Given the description of an element on the screen output the (x, y) to click on. 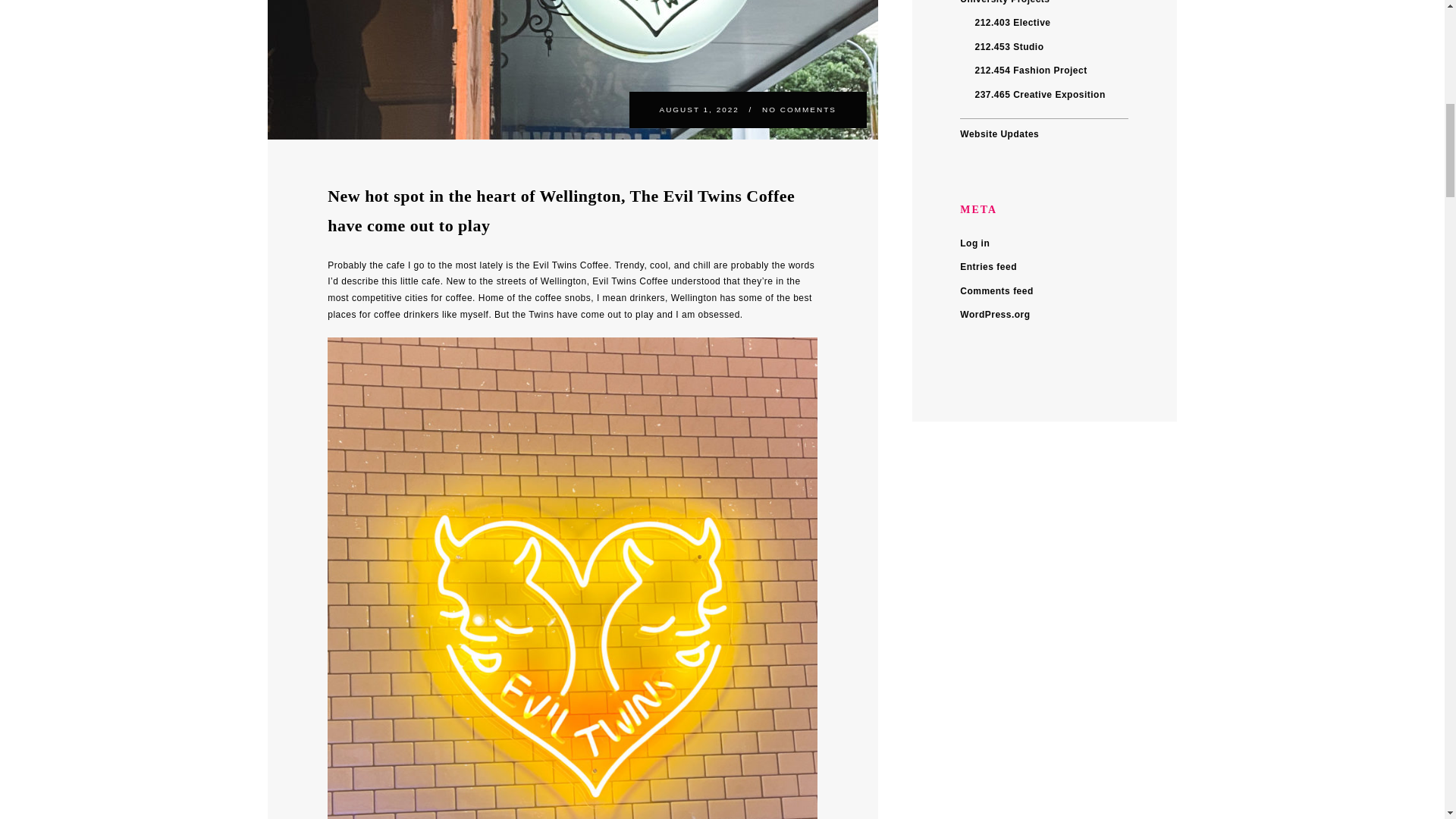
NO COMMENTS (798, 109)
AUGUST 1, 2022 (700, 109)
237.465 Creative Exposition (1039, 94)
212.454 Fashion Project (1030, 70)
University Projects (1004, 2)
212.403 Elective (1011, 22)
212.453 Studio (1008, 45)
